Given the description of an element on the screen output the (x, y) to click on. 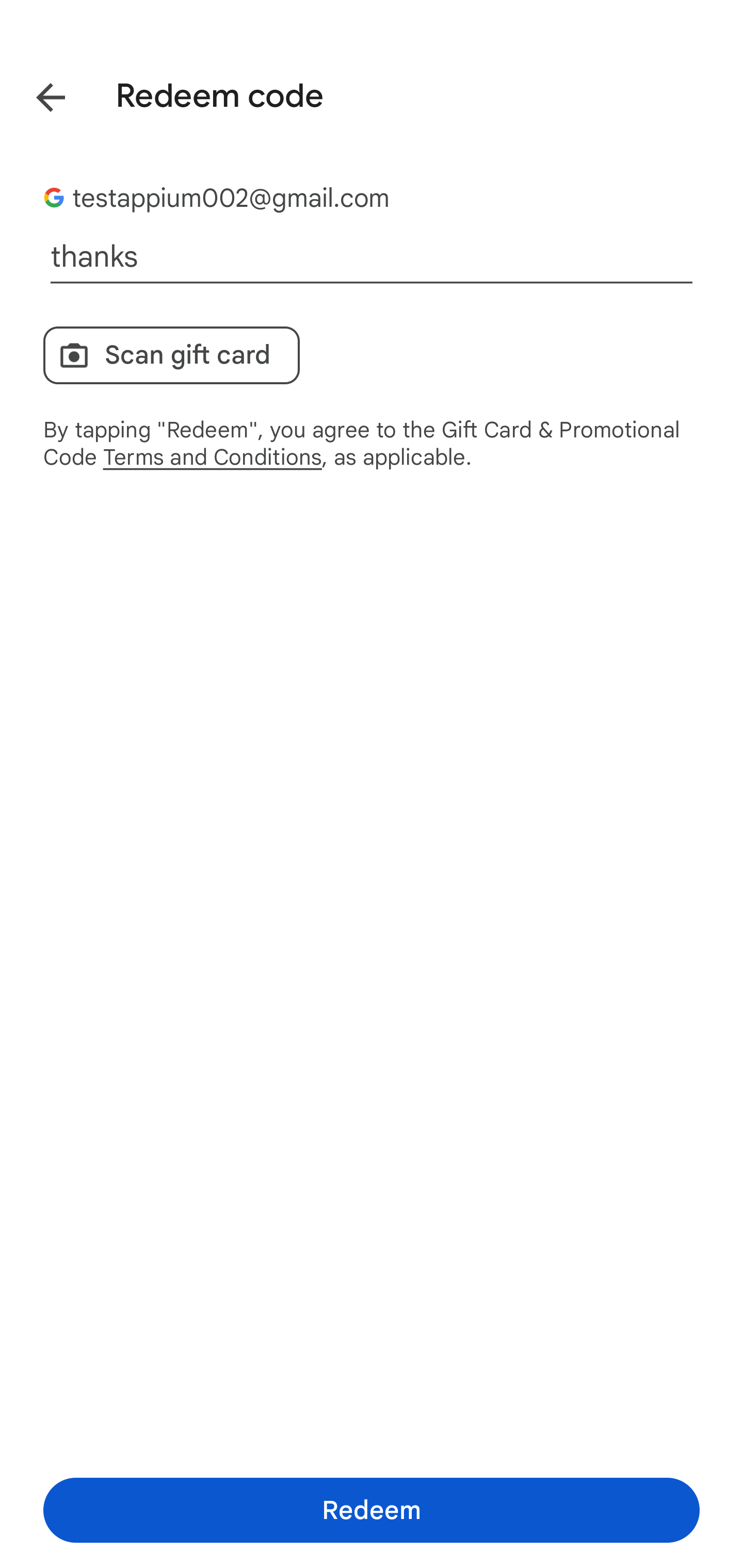
Back (36, 94)
thanks (371, 256)
Scan gift card (171, 355)
Redeem (371, 1509)
